Given the description of an element on the screen output the (x, y) to click on. 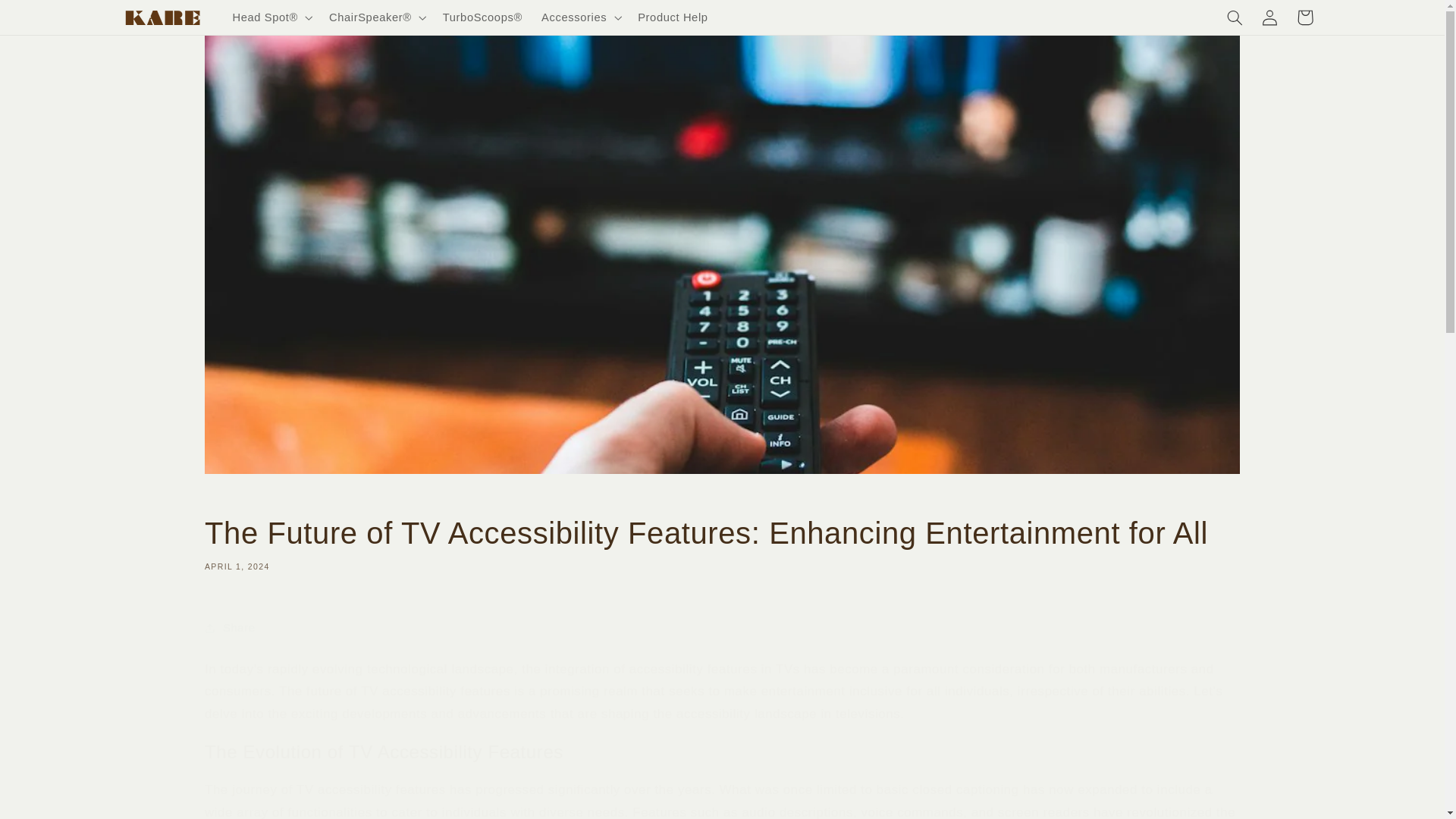
Skip to content (48, 18)
Share (722, 628)
